Given the description of an element on the screen output the (x, y) to click on. 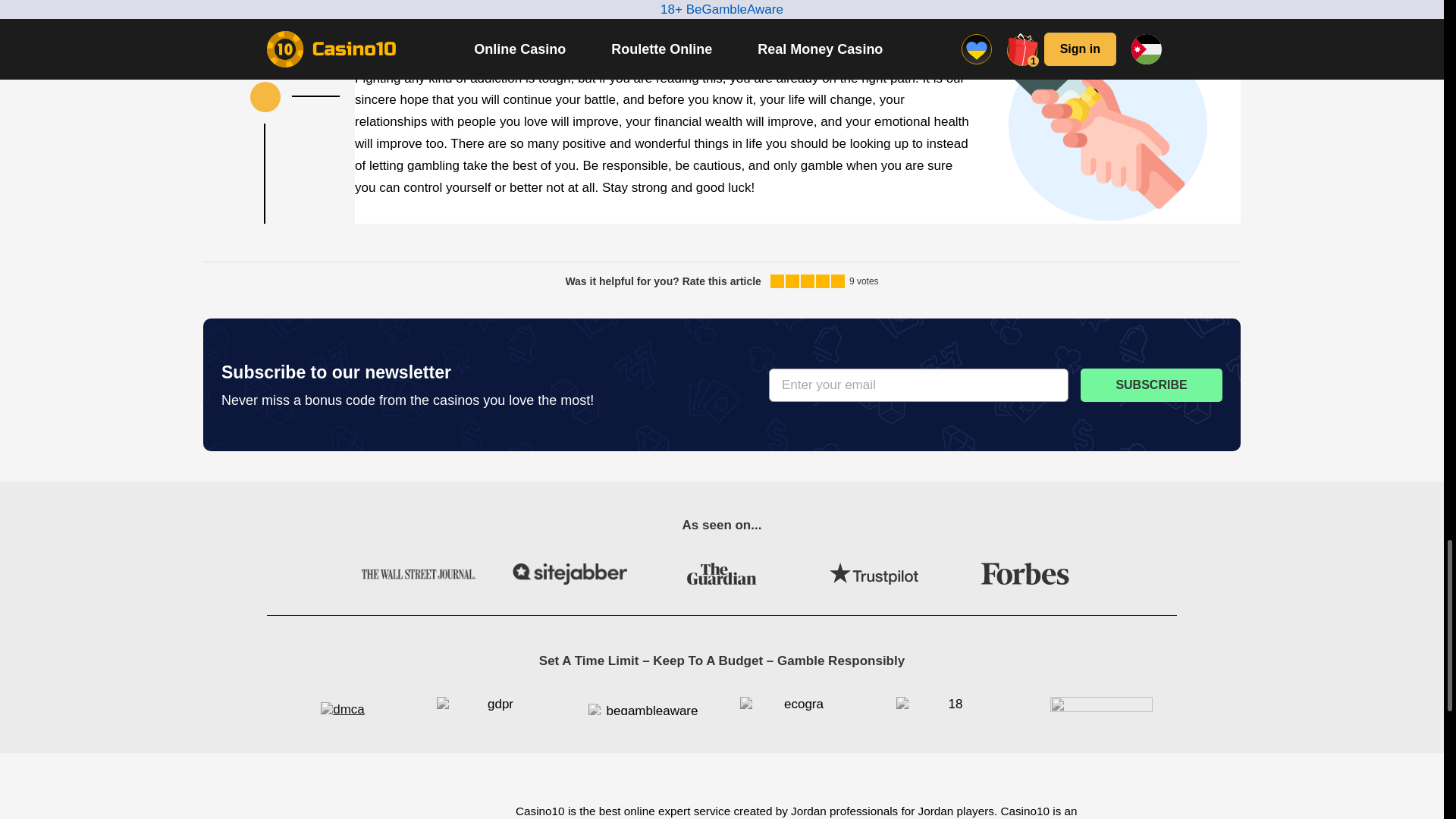
SUBSCRIBE (1151, 385)
You are not allowed to vote! (806, 281)
You are not allowed to vote! (837, 281)
You are not allowed to vote! (822, 281)
You are not allowed to vote! (777, 281)
You are not allowed to vote! (792, 281)
